Given the description of an element on the screen output the (x, y) to click on. 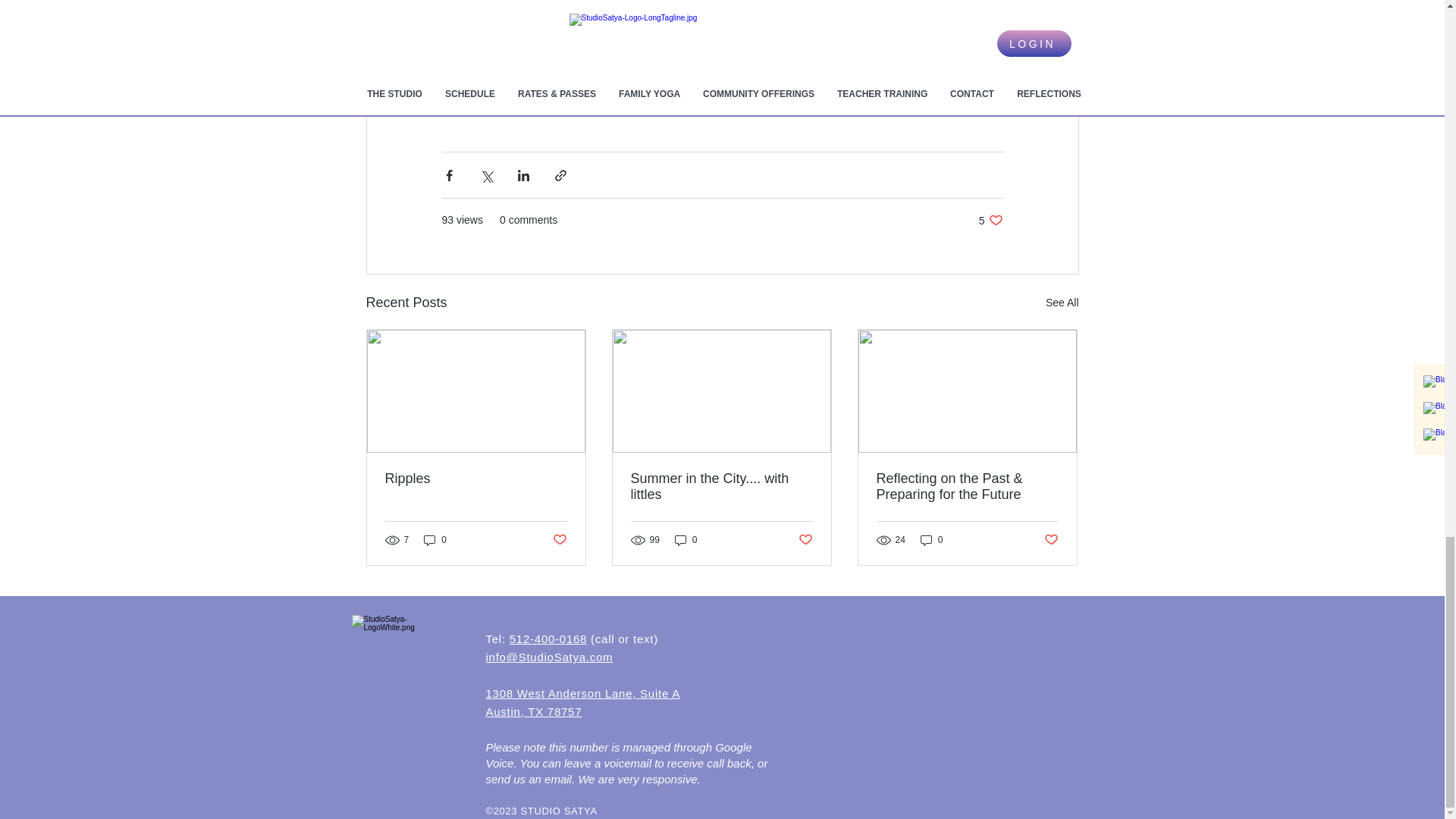
Ripples (476, 478)
Post not marked as liked (558, 539)
See All (990, 219)
0 (1061, 302)
